Given the description of an element on the screen output the (x, y) to click on. 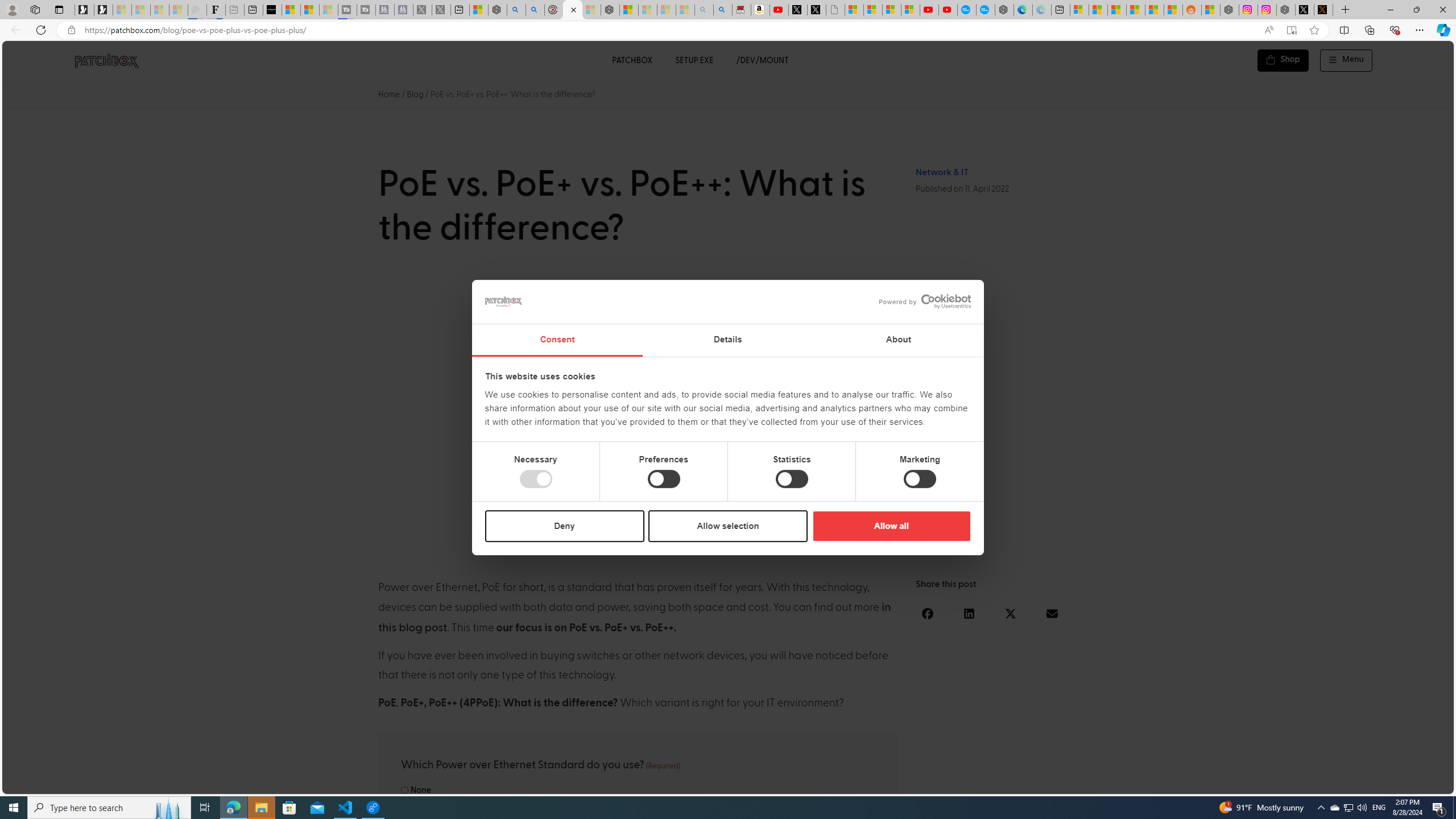
Nordace - Nordace Siena Is Not An Ordinary Backpack (609, 9)
Details (727, 340)
logo (503, 301)
Deny (564, 525)
SETUP.EXE (694, 60)
None (403, 790)
Allow all (890, 525)
Share on email (1051, 613)
Share on linkedin (968, 613)
